Given the description of an element on the screen output the (x, y) to click on. 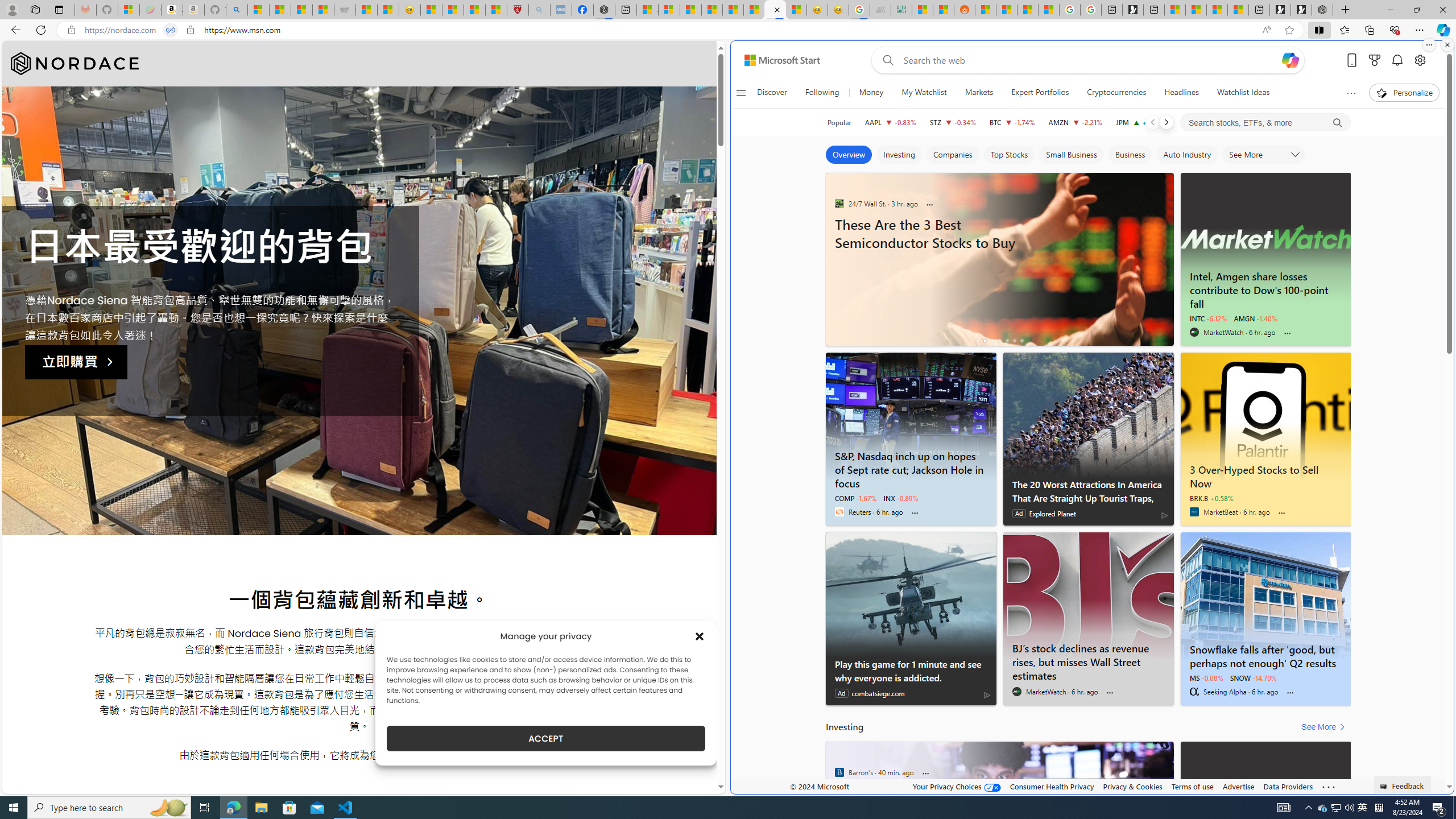
BRK.B +0.58% (1211, 497)
INTC -6.12% (1208, 317)
Class: cmplz-close (699, 636)
Nordace - Nordace Siena Is Not An Ordinary Backpack (1322, 9)
Next (1165, 122)
MSN (775, 9)
